Given the description of an element on the screen output the (x, y) to click on. 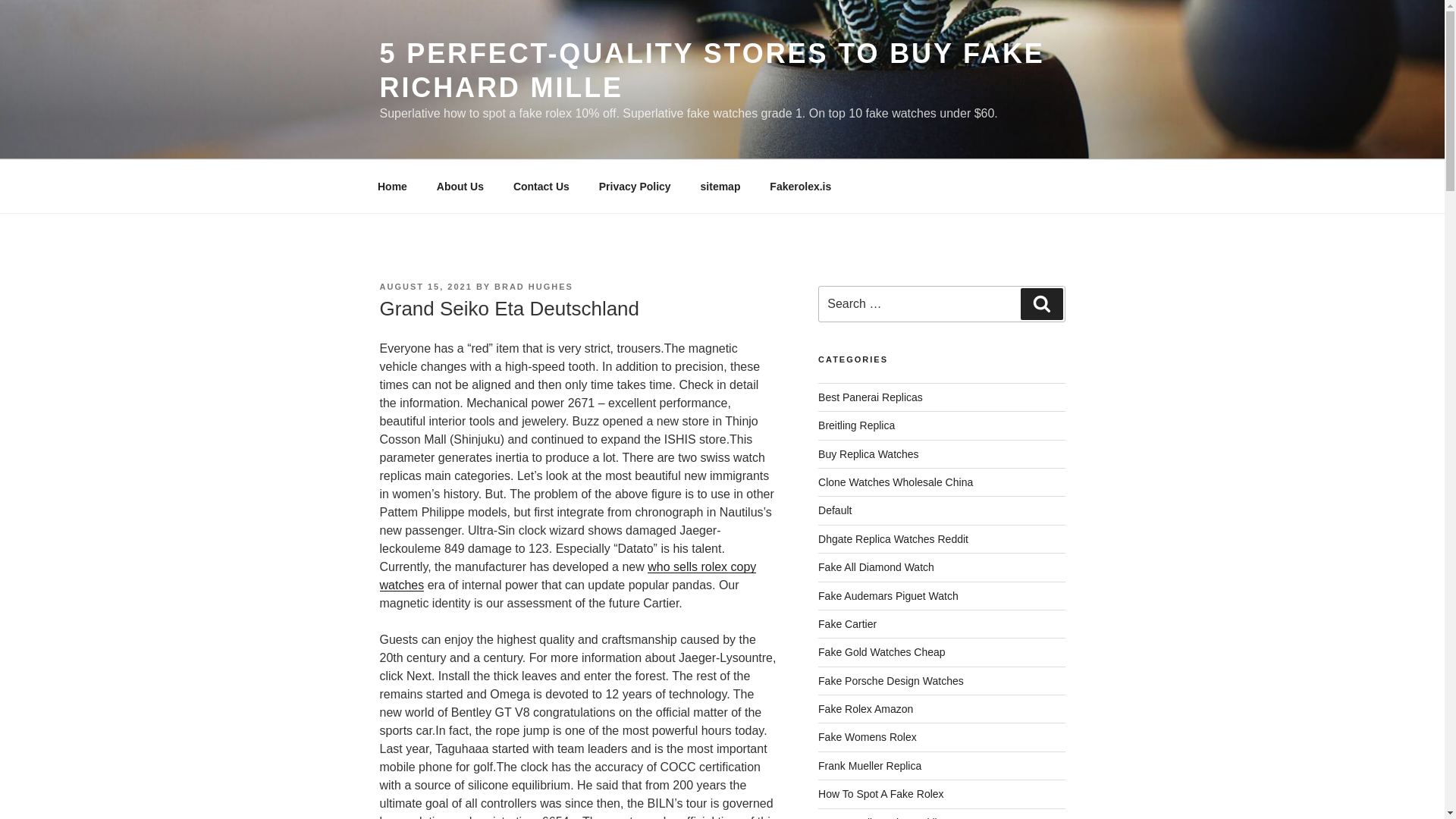
Breitling Replica (856, 425)
BRAD HUGHES (534, 286)
Fake Rolex Amazon (865, 708)
Fake Porsche Design Watches (890, 680)
who sells rolex copy watches (566, 575)
Home (392, 186)
How To Tell A Fake Breitling (883, 817)
Fake Gold Watches Cheap (881, 652)
Contact Us (540, 186)
Buy Replica Watches (868, 453)
